Given the description of an element on the screen output the (x, y) to click on. 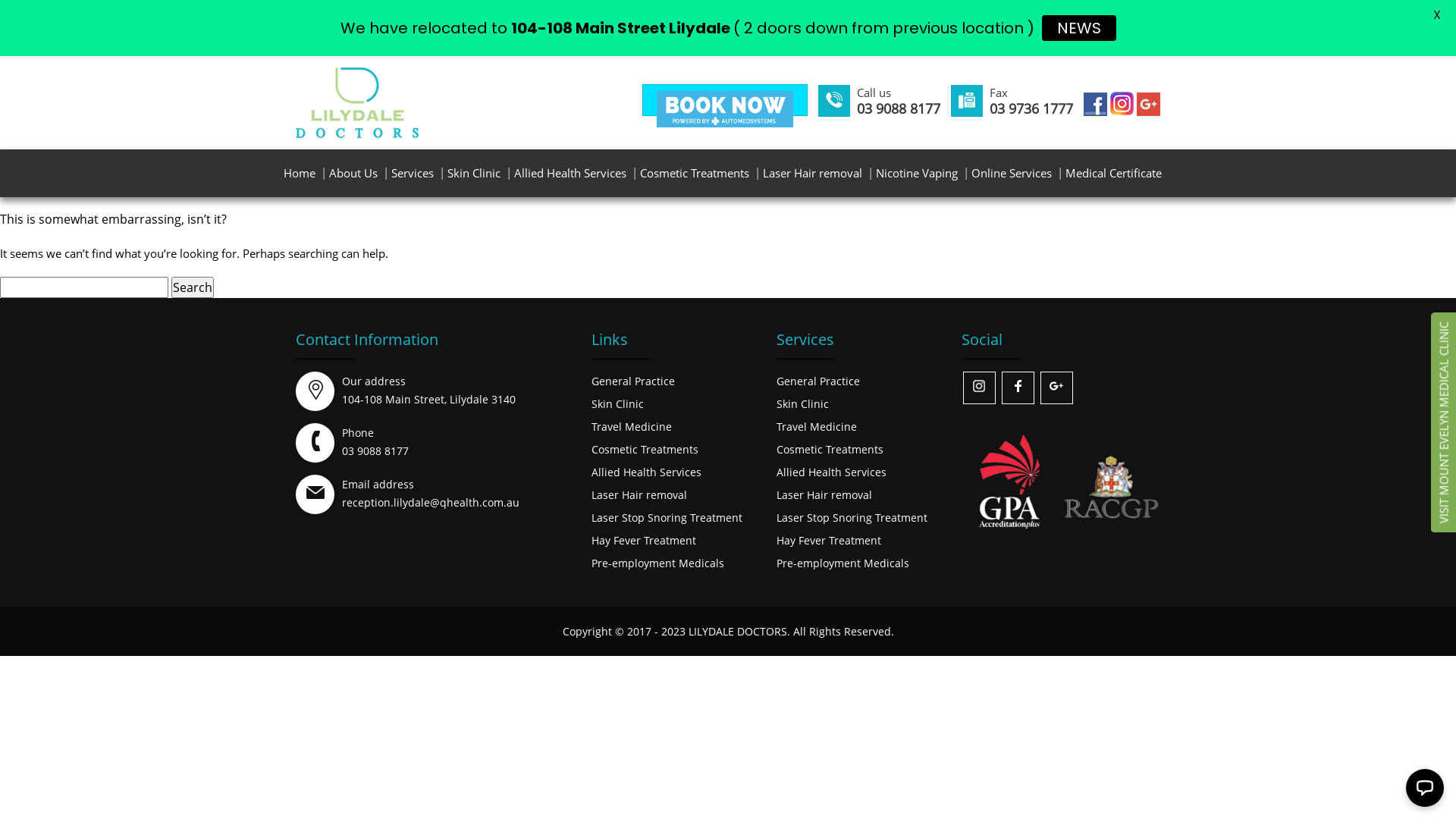
Call us
03 9088 8177 Element type: text (898, 93)
Phone
03 9088 8177 Element type: text (375, 441)
Hay Fever Treatment Element type: text (828, 540)
Allied Health Services Element type: text (570, 173)
Laser Hair removal Element type: text (812, 173)
Laser Hair removal Element type: text (639, 494)
Travel Medicine Element type: text (816, 426)
Lilydale Doctors - Book Appointment Element type: hover (724, 109)
Cosmetic Treatments Element type: text (829, 449)
Laser Hair removal Element type: text (824, 494)
Fax
03 9736 1777 Element type: text (1031, 93)
Search Element type: text (192, 287)
Laser Stop Snoring Treatment Element type: text (666, 517)
Allied Health Services Element type: text (831, 471)
Skin Clinic Element type: text (473, 173)
Our address
104-108 Main Street, Lilydale 3140 Element type: text (428, 389)
Home Element type: text (299, 173)
Skin Clinic Element type: text (617, 403)
Nicotine Vaping Element type: text (916, 173)
Cosmetic Treatments Element type: text (644, 449)
Hay Fever Treatment Element type: text (643, 540)
Pre-employment Medicals Element type: text (657, 562)
Pre-employment Medicals Element type: text (842, 562)
Allied Health Services Element type: text (646, 471)
About Us Element type: text (353, 173)
Online Services Element type: text (1011, 173)
Travel Medicine Element type: text (631, 426)
Medical Certificate Element type: text (1113, 173)
Services Element type: text (412, 173)
General Practice Element type: text (632, 380)
Email address
reception.lilydale@qhealth.com.au Element type: text (430, 492)
Laser Stop Snoring Treatment Element type: text (851, 517)
NEWS Element type: text (1078, 27)
General Practice Element type: text (817, 380)
Skin Clinic Element type: text (802, 403)
Cosmetic Treatments Element type: text (694, 173)
